Given the description of an element on the screen output the (x, y) to click on. 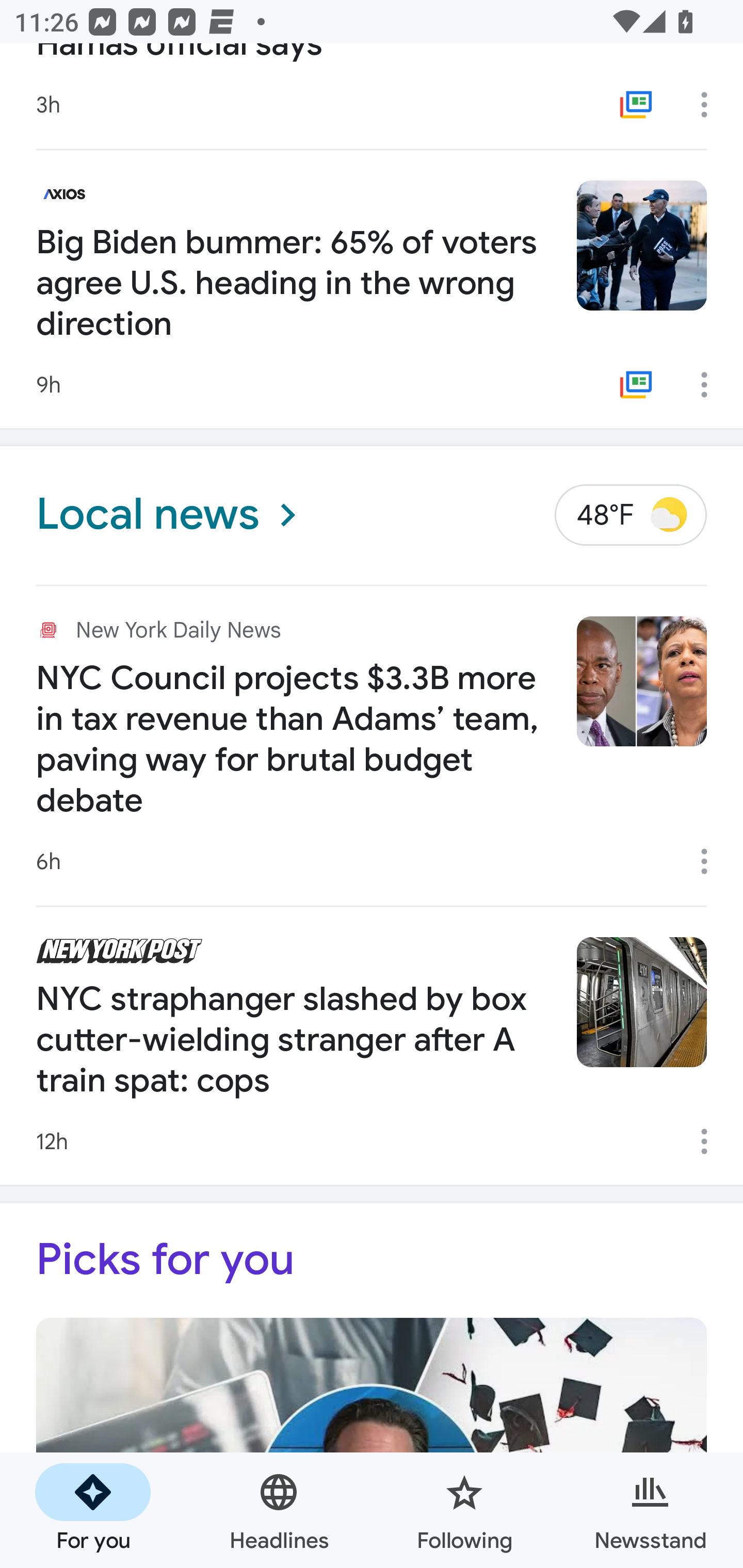
More options (711, 104)
More options (711, 384)
More options (711, 861)
More options (711, 1141)
For you (92, 1509)
Headlines (278, 1509)
Following (464, 1509)
Newsstand (650, 1509)
